Given the description of an element on the screen output the (x, y) to click on. 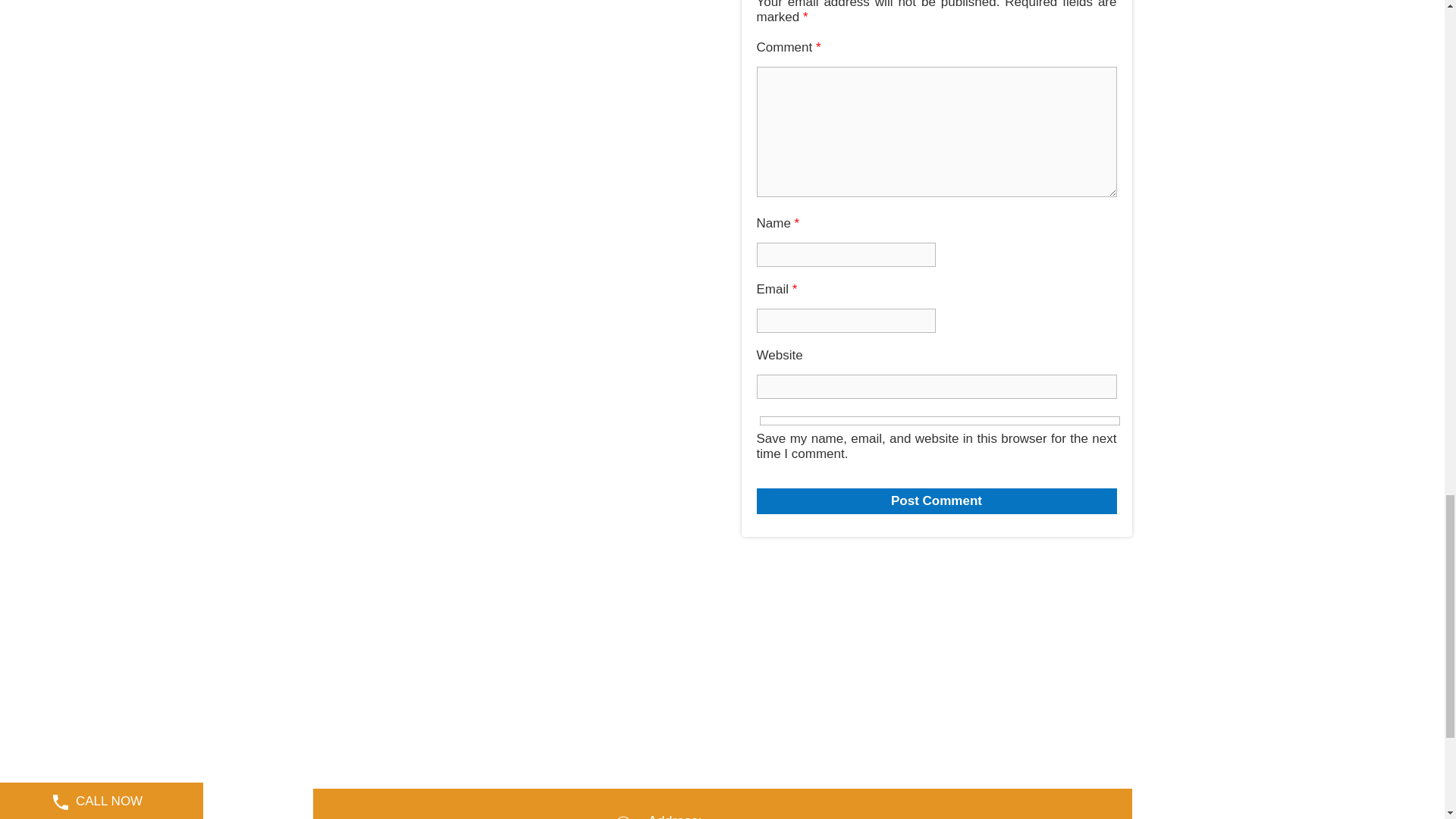
Post Comment (936, 501)
yes (939, 420)
Post Comment (936, 501)
